Given the description of an element on the screen output the (x, y) to click on. 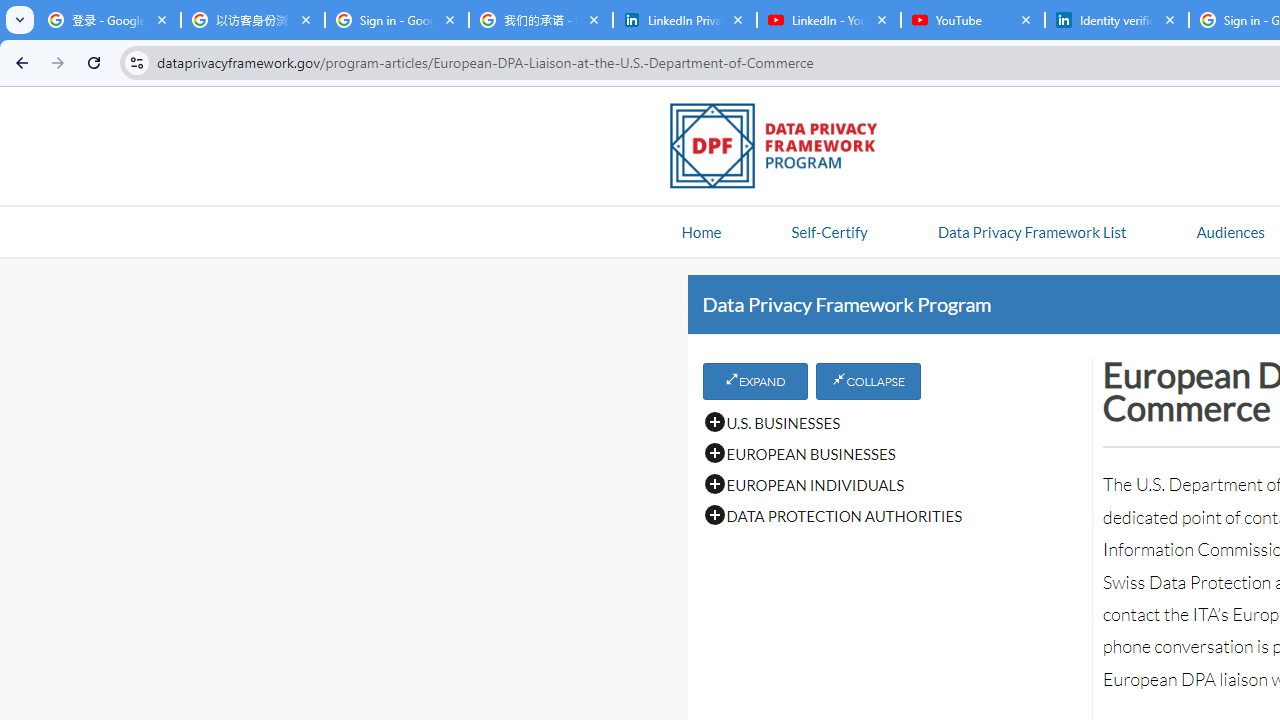
AutomationID: navitem (1230, 231)
Audiences (1230, 231)
Data Privacy Framework Logo - Link to Homepage (783, 149)
Home (701, 231)
Self-Certify (829, 231)
LinkedIn Privacy Policy (684, 20)
